Given the description of an element on the screen output the (x, y) to click on. 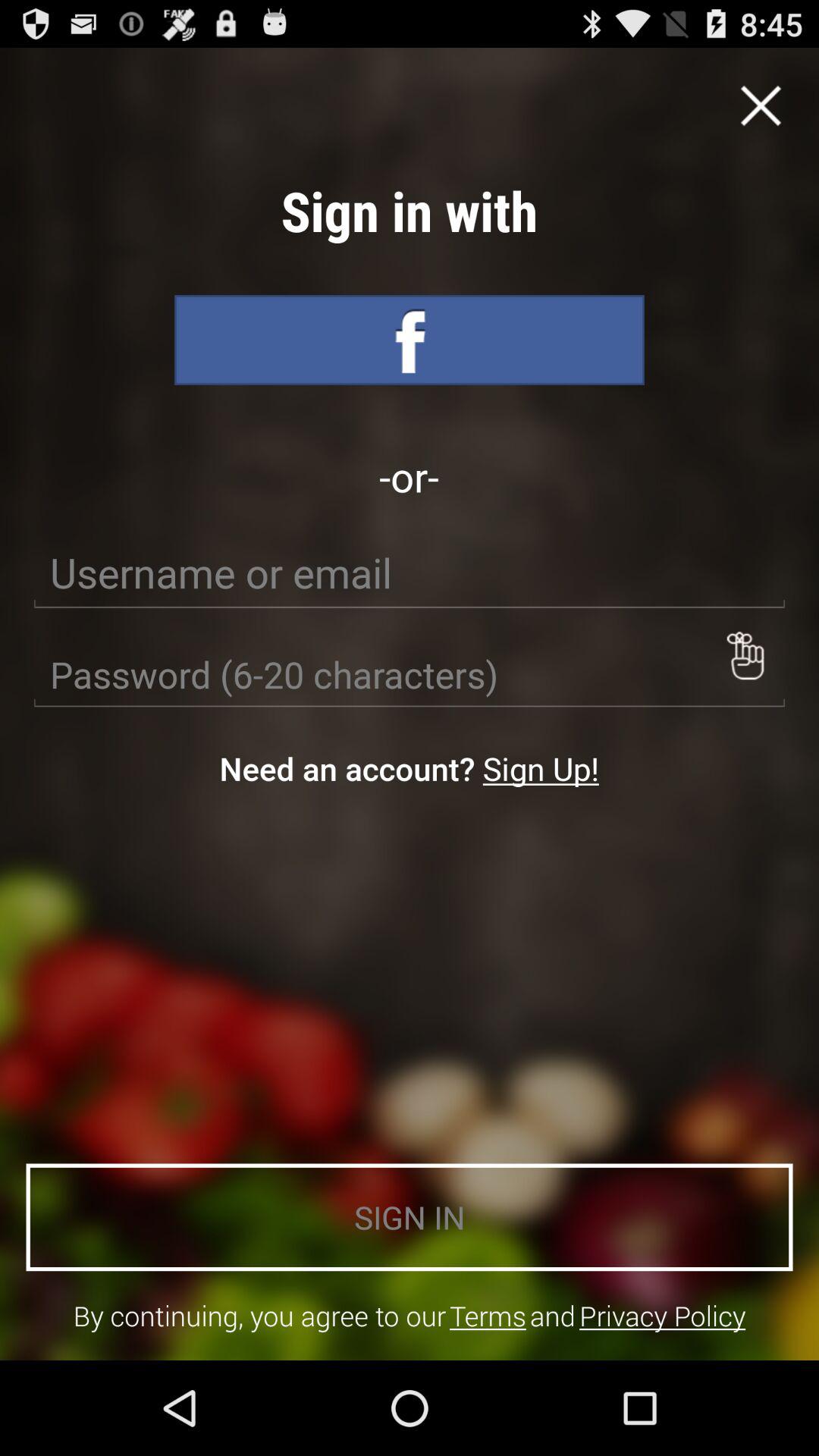
see password (744, 655)
